Given the description of an element on the screen output the (x, y) to click on. 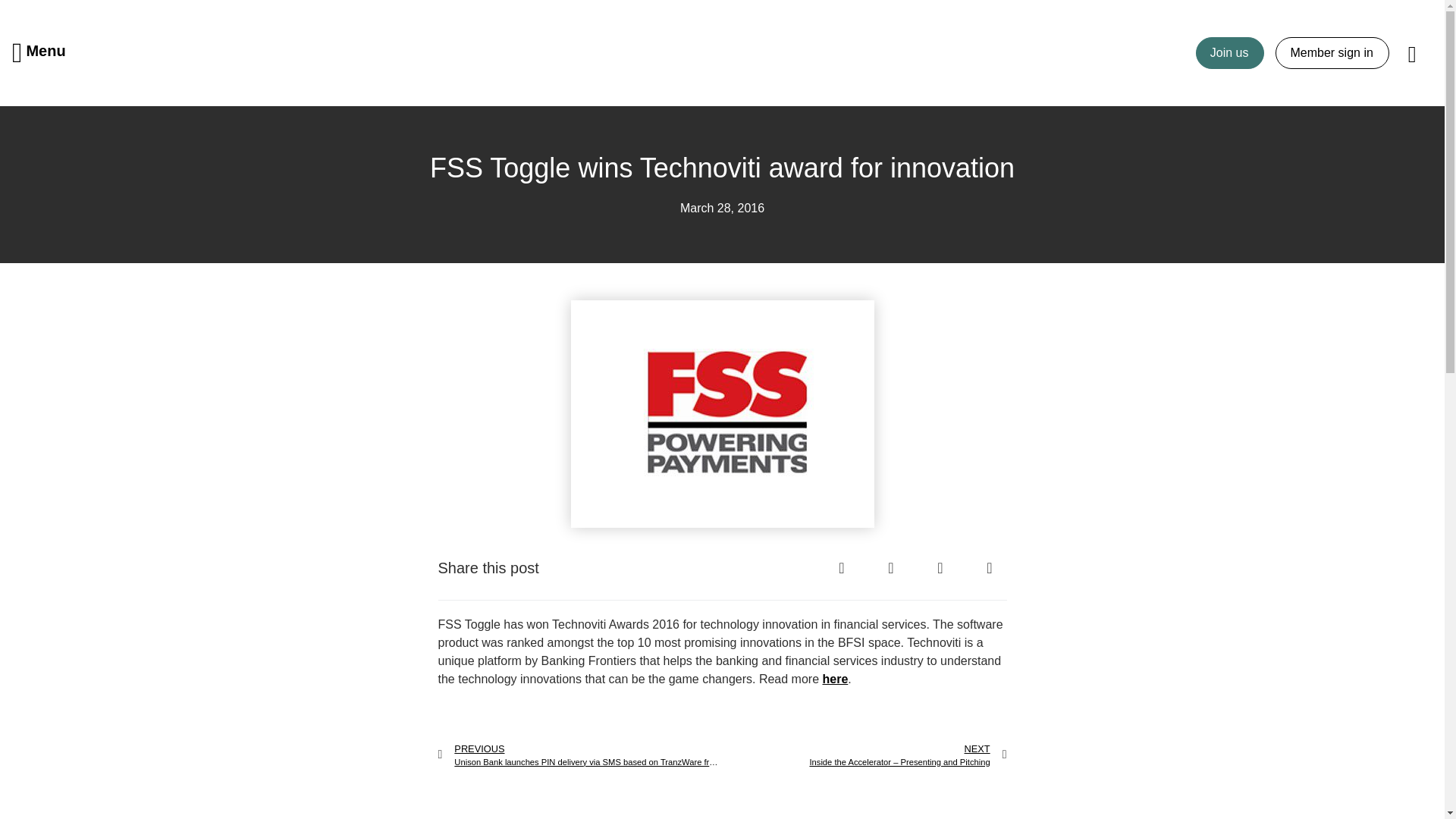
Menu (39, 52)
Member sign in (1332, 51)
Join us (1230, 51)
here (834, 678)
March 28, 2016 (721, 208)
